Given the description of an element on the screen output the (x, y) to click on. 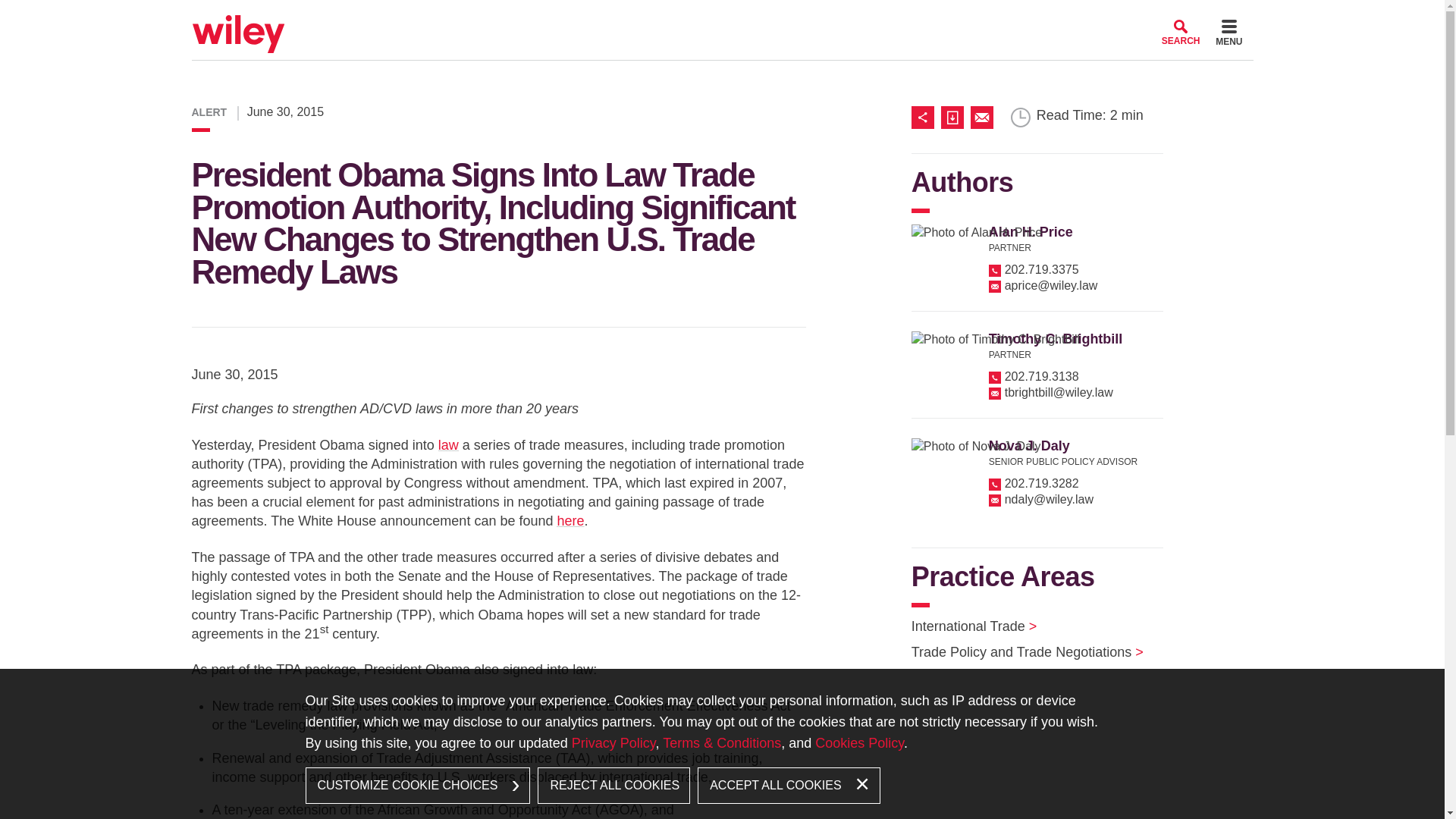
Main Menu (676, 17)
Menu (1228, 34)
Menu (676, 17)
Email (981, 117)
Share (925, 117)
Cookie Settings (663, 17)
SEARCH (1180, 32)
Main Content (669, 17)
MENU (1228, 34)
